Given the description of an element on the screen output the (x, y) to click on. 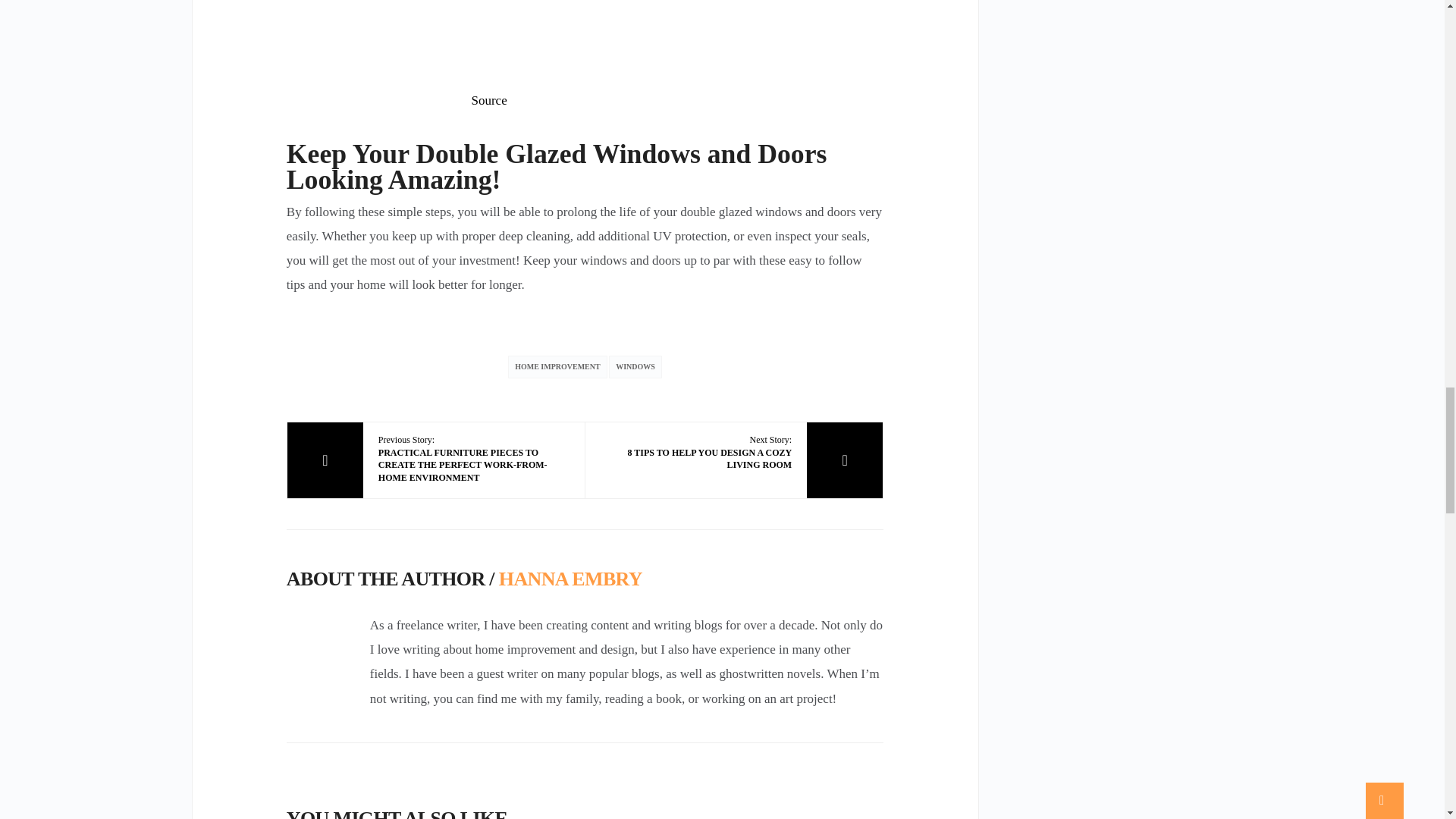
interior double glazed windows and doors (584, 41)
Posts by Hanna Embry (570, 578)
Source (488, 100)
WINDOWS (635, 366)
HANNA EMBRY (702, 452)
HOME IMPROVEMENT (570, 578)
